Given the description of an element on the screen output the (x, y) to click on. 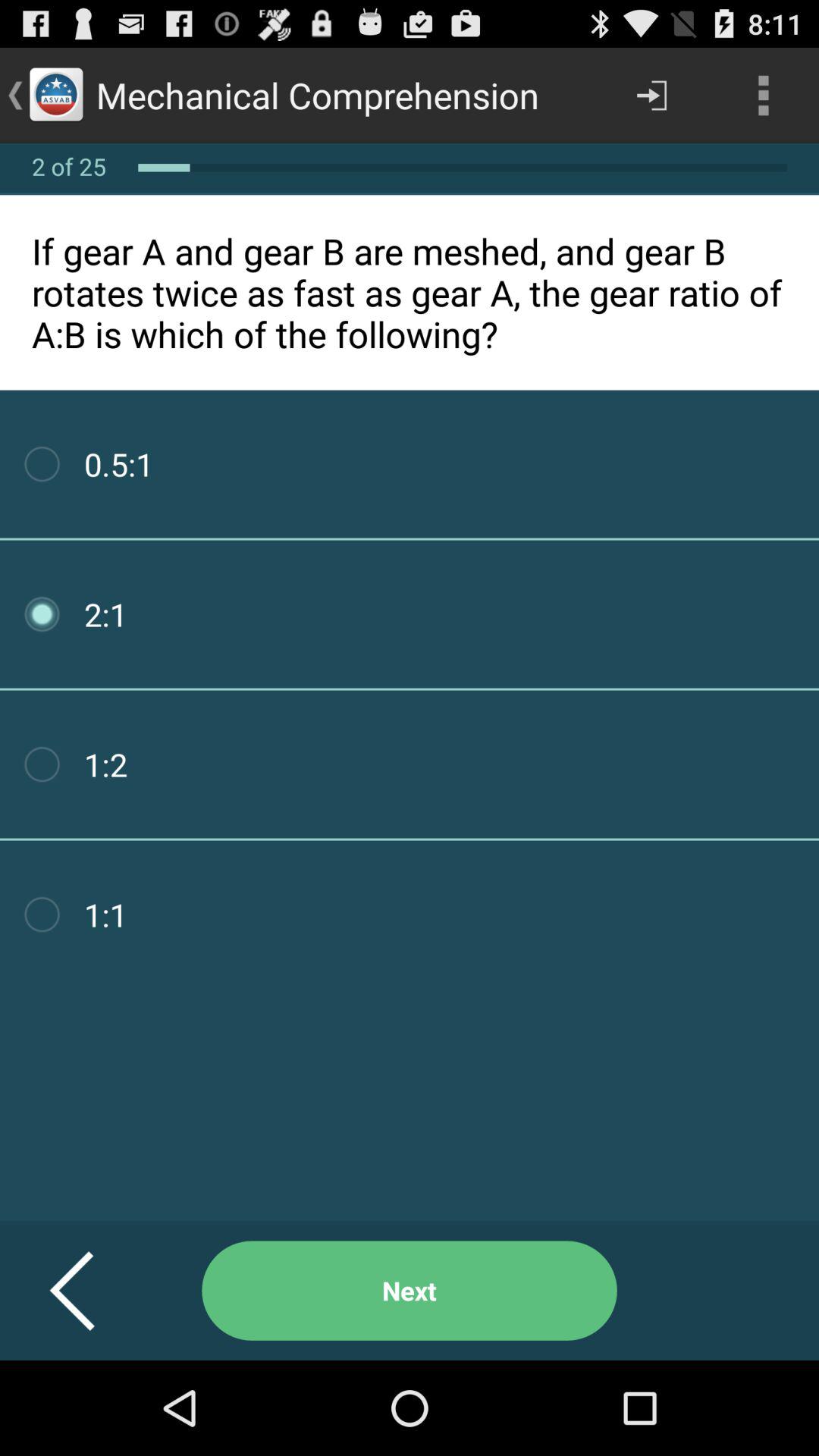
open item next to next item (91, 1290)
